Given the description of an element on the screen output the (x, y) to click on. 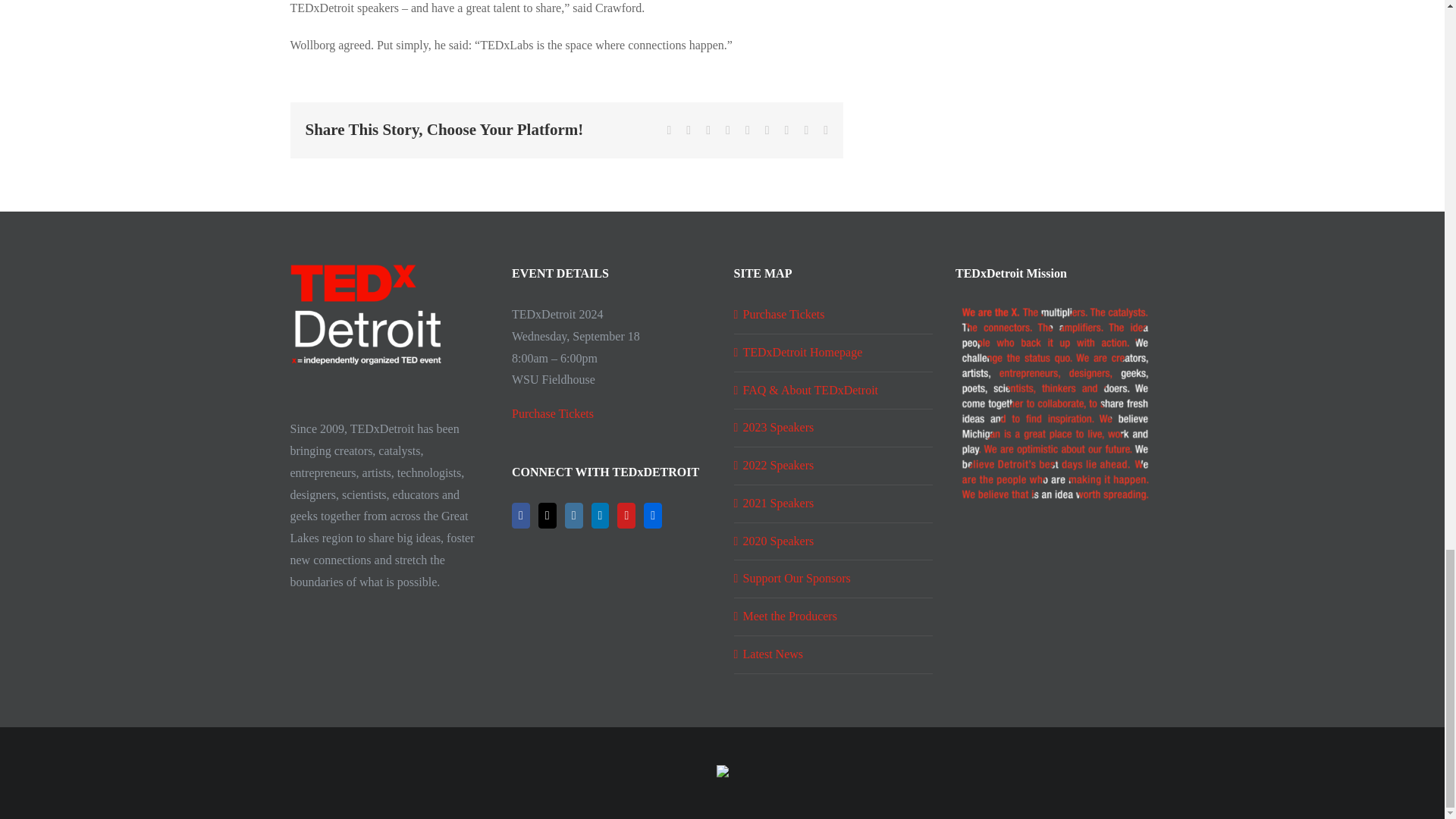
Email (826, 130)
Twitter (687, 130)
Twitter (687, 130)
Tumblr (767, 130)
Facebook (668, 130)
Tumblr (767, 130)
Instagram (573, 515)
Pinterest (786, 130)
Reddit (708, 130)
Reddit (708, 130)
WhatsApp (747, 130)
Vk (805, 130)
Twitter (547, 515)
LinkedIn (600, 515)
Vk (805, 130)
